Given the description of an element on the screen output the (x, y) to click on. 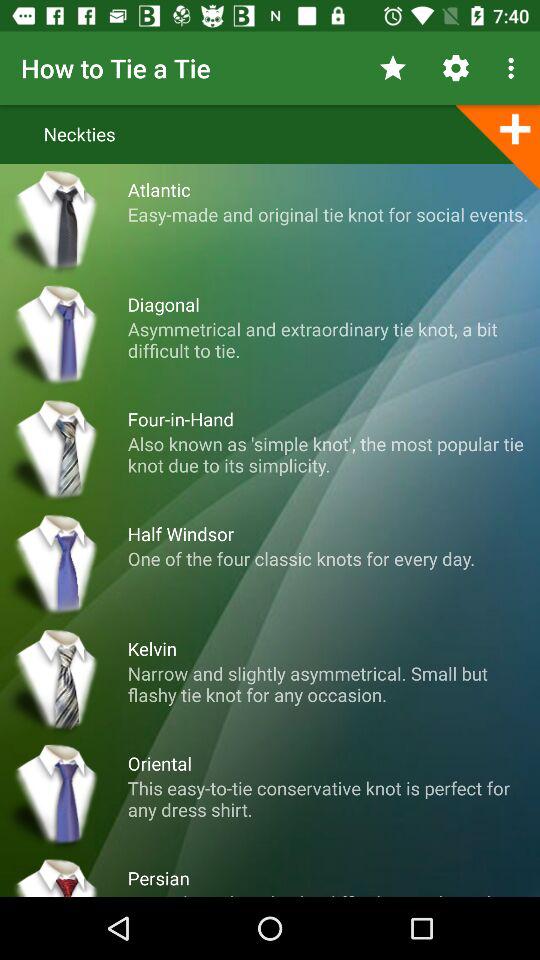
click on the star button (392, 68)
